Given the description of an element on the screen output the (x, y) to click on. 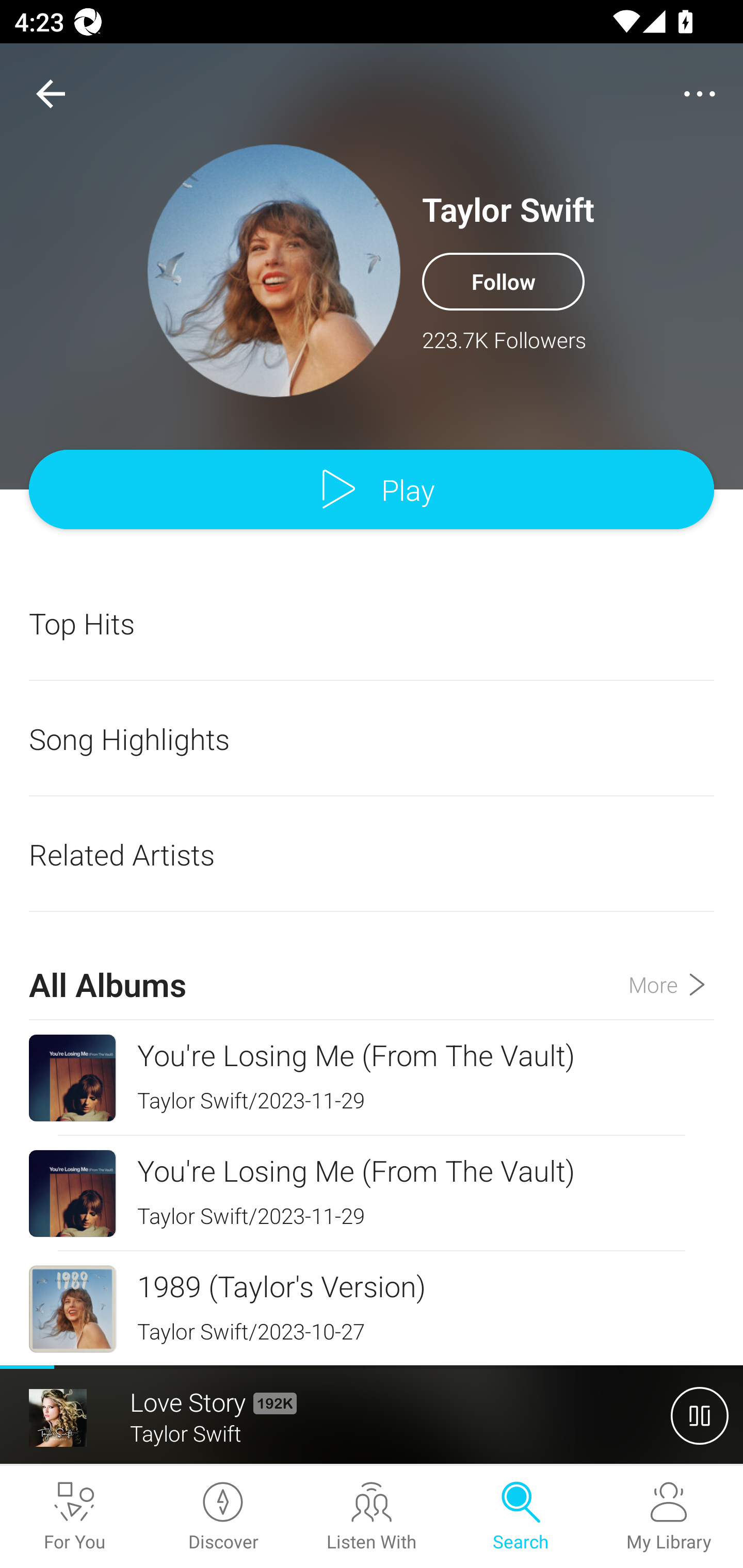
overflow (699, 93)
view_artist_avatar (273, 270)
Follow button_subscription (503, 281)
Play (371, 489)
Top Hits (371, 623)
Song Highlights (371, 738)
Related Artists (371, 854)
All Albums More (371, 966)
1989 (Taylor's Version) Taylor Swift/2023-10-27 (371, 1308)
暫停播放 (699, 1415)
For You (74, 1517)
Discover (222, 1517)
Listen With (371, 1517)
Search (519, 1517)
My Library (668, 1517)
